Given the description of an element on the screen output the (x, y) to click on. 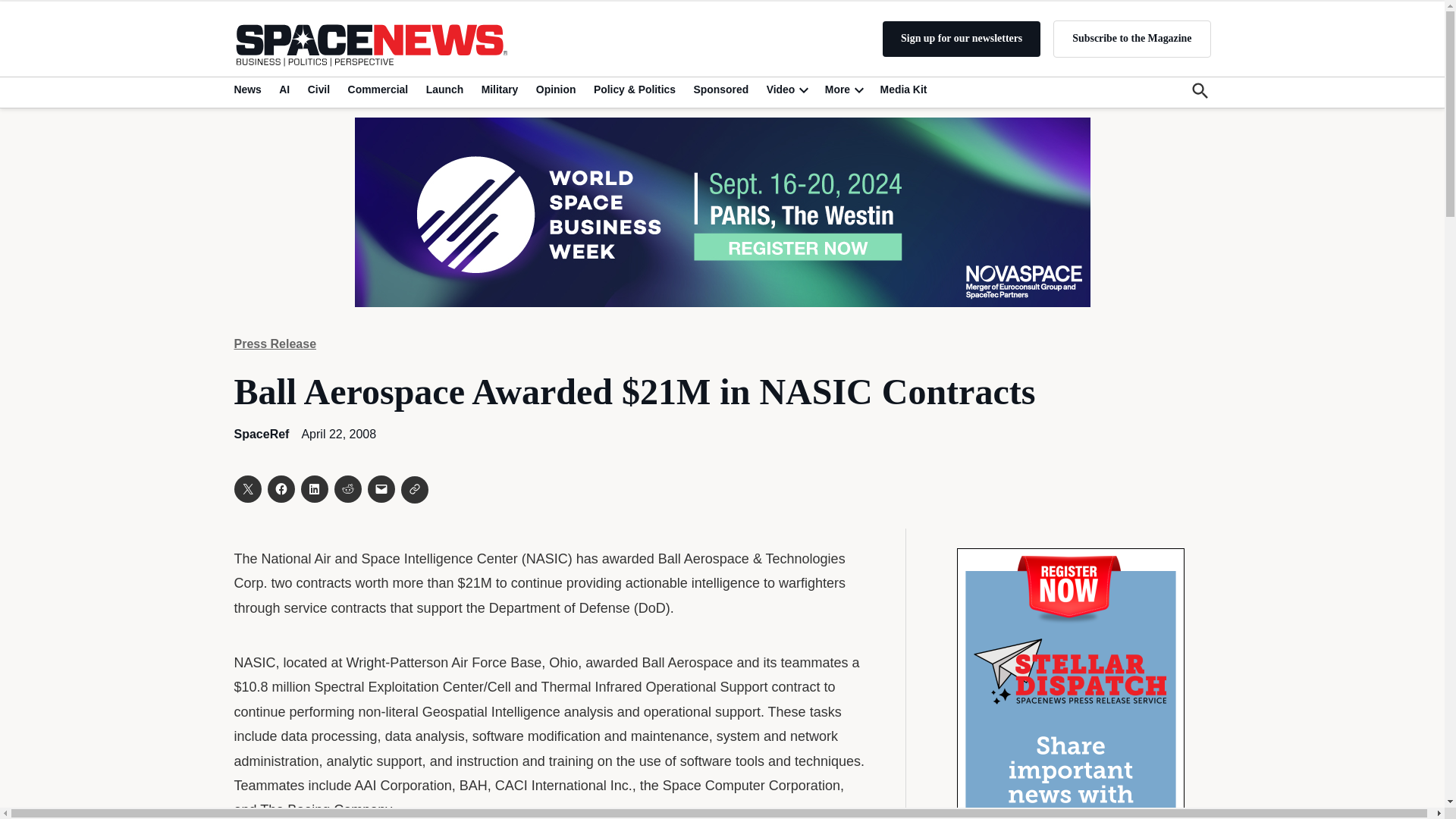
Civil (318, 89)
Click to email a link to a friend (380, 488)
Click to share on X (246, 488)
Click to share on Reddit (347, 488)
Sign up for our newsletters (961, 38)
Click to share on Facebook (280, 488)
Subscribe to the Magazine (1130, 38)
Click to share on Clipboard (414, 489)
AI (284, 89)
News (249, 89)
Click to share on LinkedIn (313, 488)
